Given the description of an element on the screen output the (x, y) to click on. 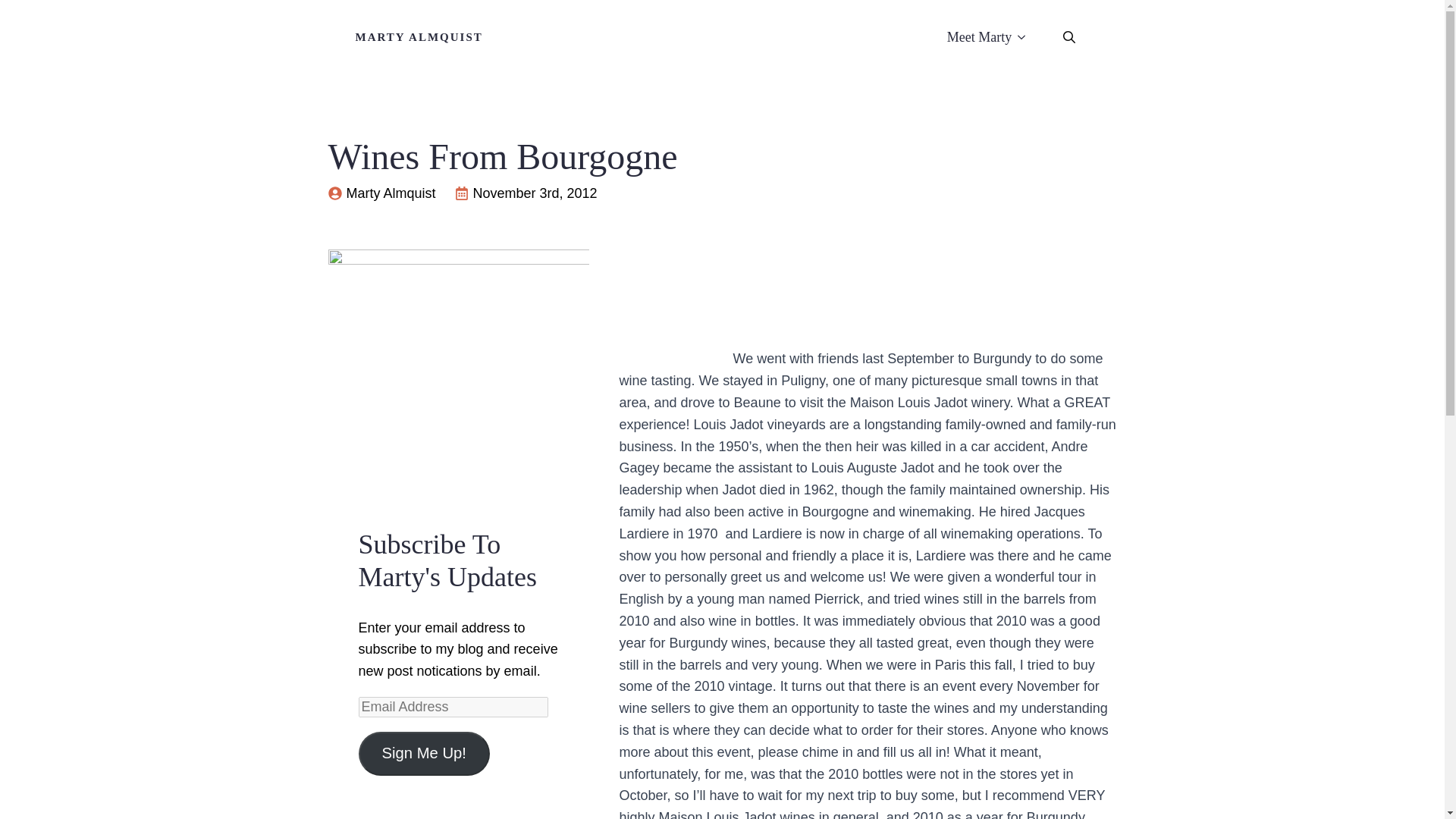
Meet Marty (971, 36)
MARTY ALMQUIST (419, 36)
Sign Me Up! (423, 753)
